Given the description of an element on the screen output the (x, y) to click on. 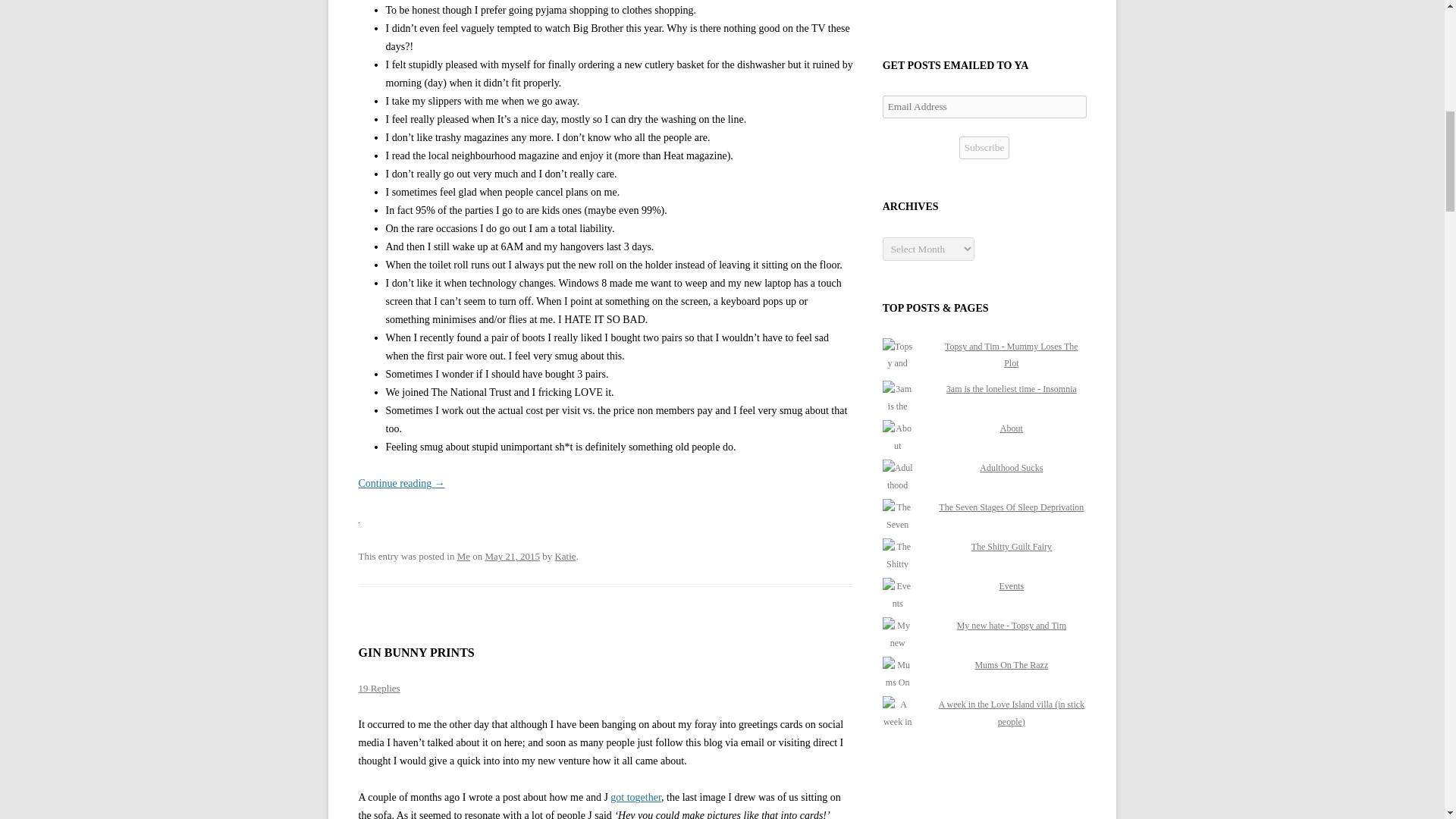
The Backstory (635, 797)
7:51 pm (512, 555)
got together (635, 797)
GIN BUNNY PRINTS (416, 652)
May 21, 2015 (512, 555)
Me (463, 555)
19 Replies (378, 687)
View all posts by Katie (564, 555)
Katie (564, 555)
